Given the description of an element on the screen output the (x, y) to click on. 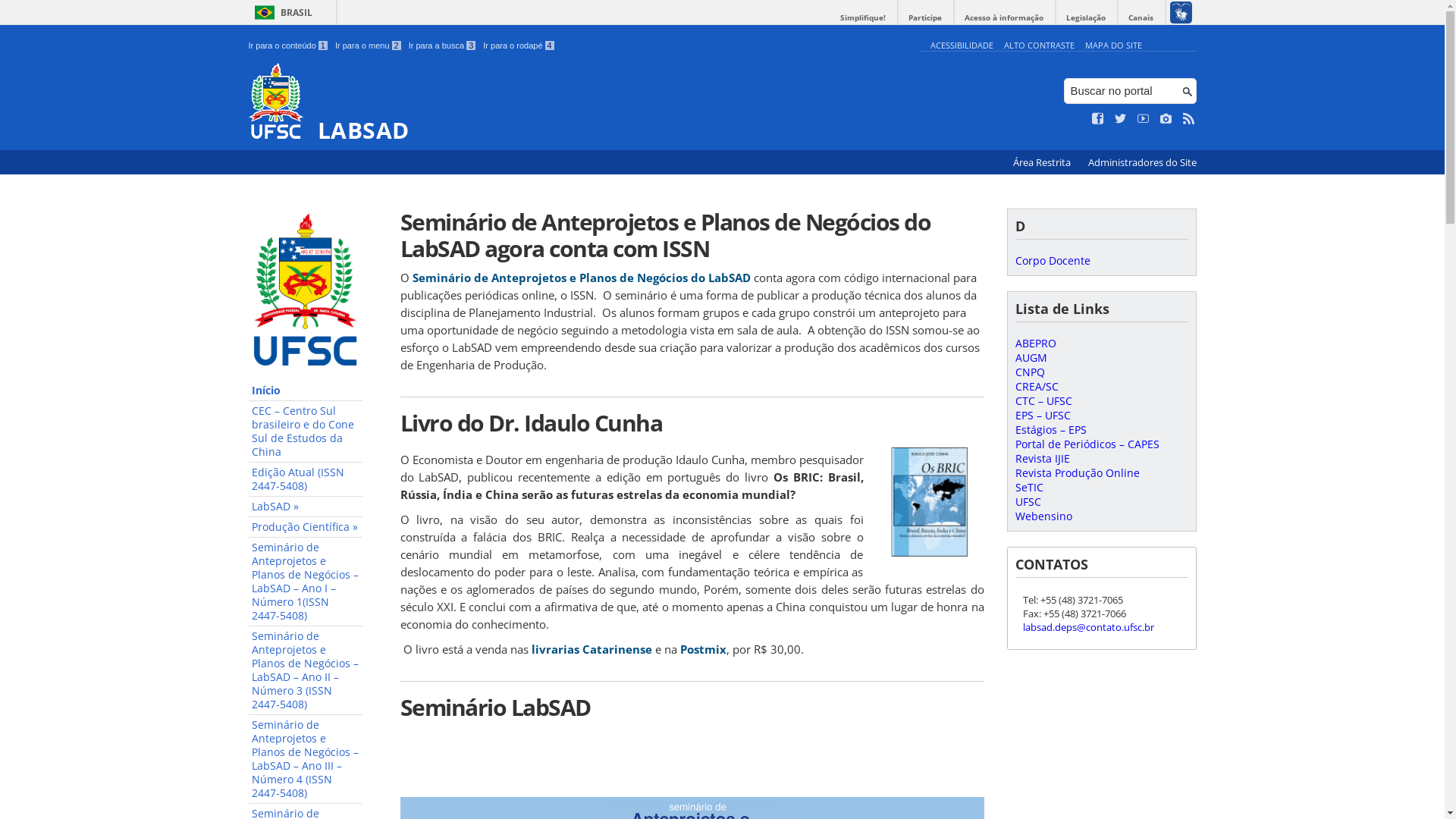
SeTIC Element type: text (1028, 487)
Webensino Element type: text (1042, 515)
Siga no Twitter Element type: hover (1120, 118)
CNPQ Element type: text (1029, 371)
Curta no Facebook Element type: hover (1098, 118)
UFSC Element type: text (1027, 501)
Participe Element type: text (924, 18)
Administradores do Site Element type: text (1141, 162)
labsad.deps@contato.ufsc.br Element type: text (1087, 626)
ALTO CONTRASTE Element type: text (1039, 44)
ACESSIBILIDADE Element type: text (960, 44)
2014-livro-os-bric-228x228 Element type: hover (929, 501)
ABEPRO Element type: text (1034, 342)
MAPA DO SITE Element type: text (1112, 44)
BRASIL Element type: text (280, 12)
Postmix Element type: text (702, 648)
Simplifique! Element type: text (862, 18)
Revista IJIE Element type: text (1041, 458)
Veja no Instagram Element type: hover (1166, 118)
LABSAD Element type: text (580, 102)
Corpo Docente Element type: text (1051, 260)
Ir para a busca 3 Element type: text (442, 45)
Livro do Dr. Idaulo Cunha Element type: text (692, 422)
Ir para o menu 2 Element type: text (368, 45)
livrarias Catarinense Element type: text (590, 648)
Canais Element type: text (1140, 18)
CREA/SC Element type: text (1035, 386)
AUGM Element type: text (1030, 357)
